Given the description of an element on the screen output the (x, y) to click on. 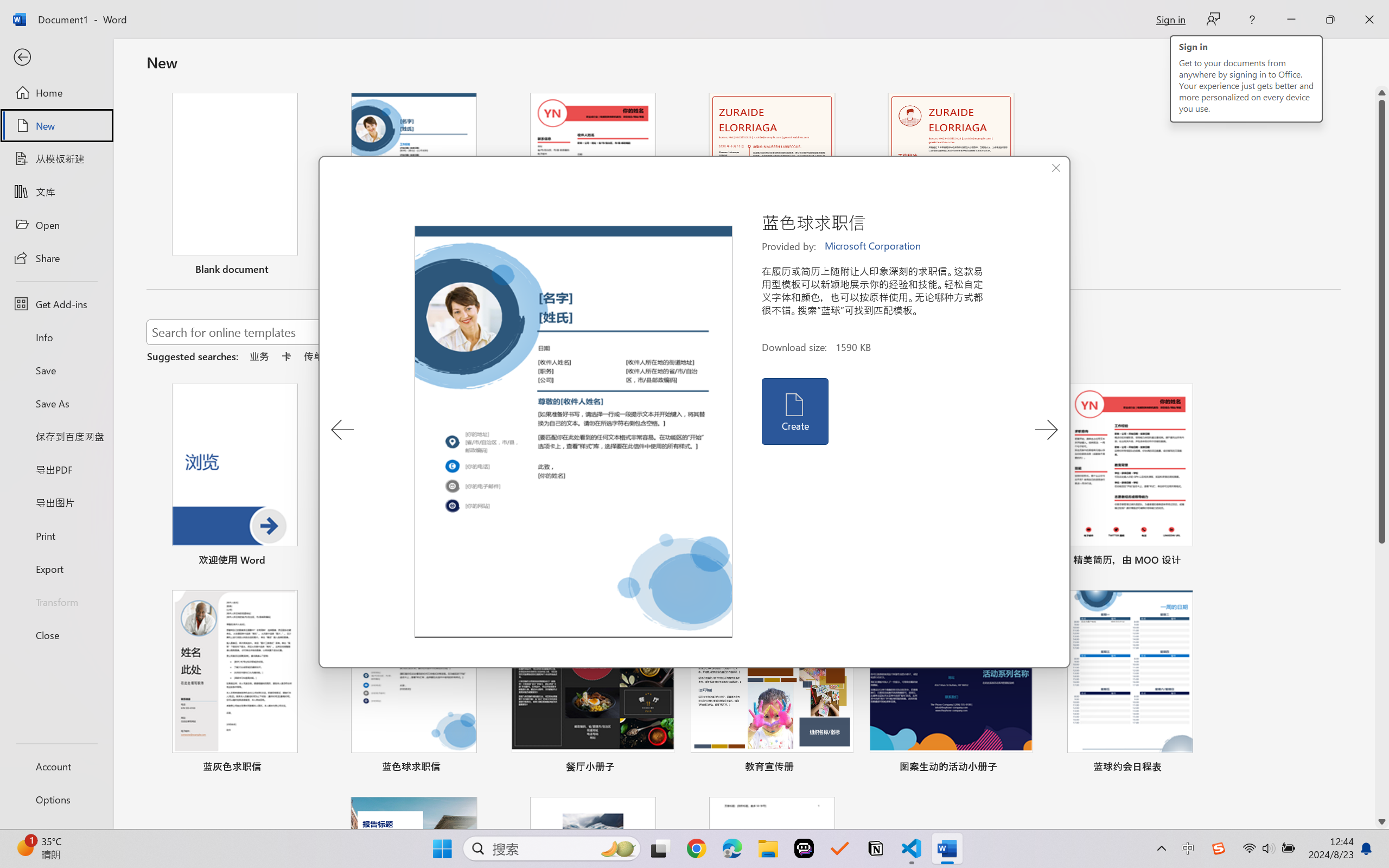
Back (56, 57)
Pin to list (1200, 767)
